Given the description of an element on the screen output the (x, y) to click on. 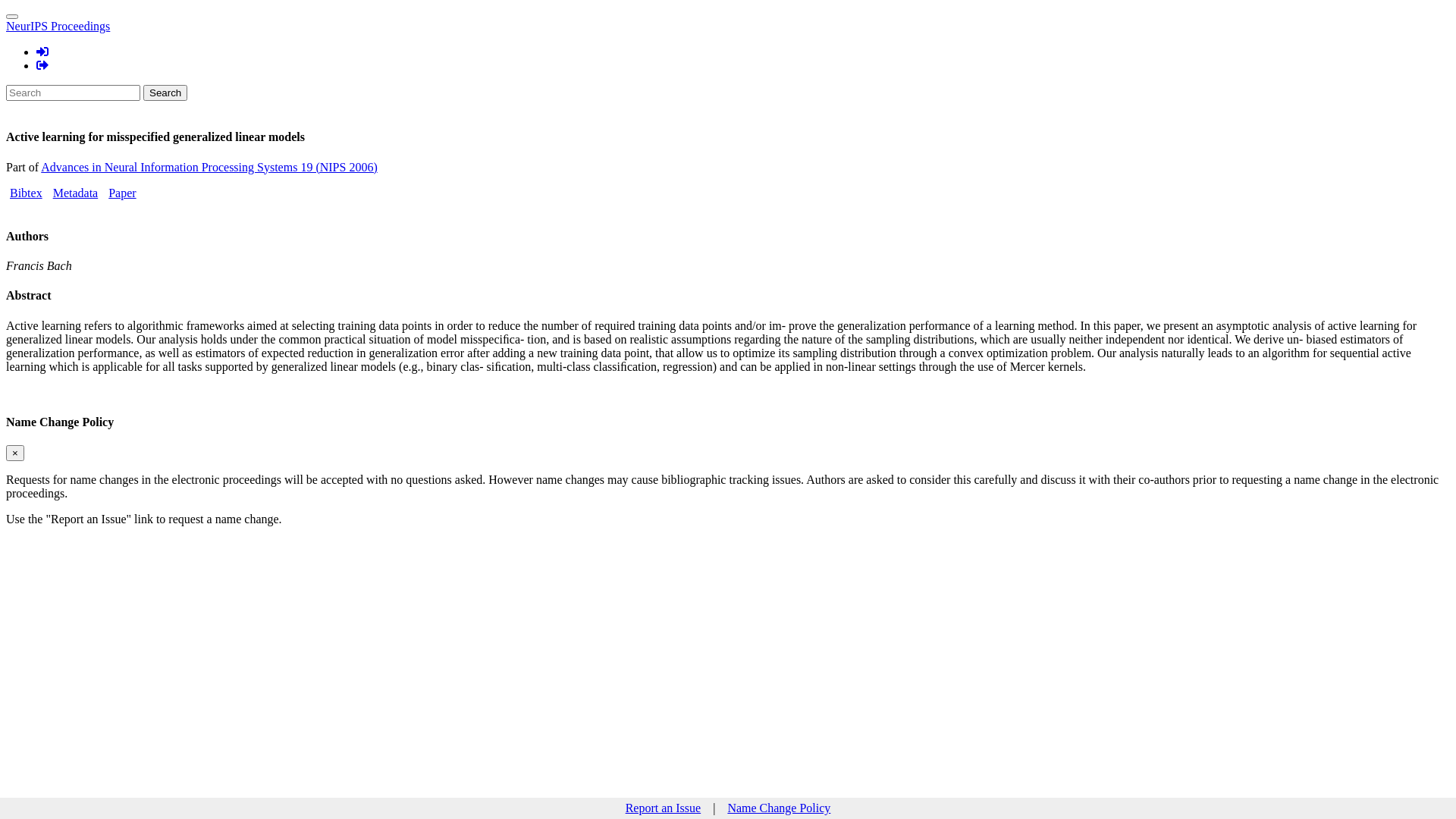
Metadata Element type: text (75, 192)
Name Change Policy Element type: text (778, 807)
Paper Element type: text (121, 192)
Report an Issue Element type: text (663, 807)
Login Element type: hover (42, 51)
Bibtex Element type: text (25, 192)
NeurIPS Proceedings Element type: text (57, 25)
Search Element type: text (165, 92)
Logout Element type: hover (42, 65)
